Given the description of an element on the screen output the (x, y) to click on. 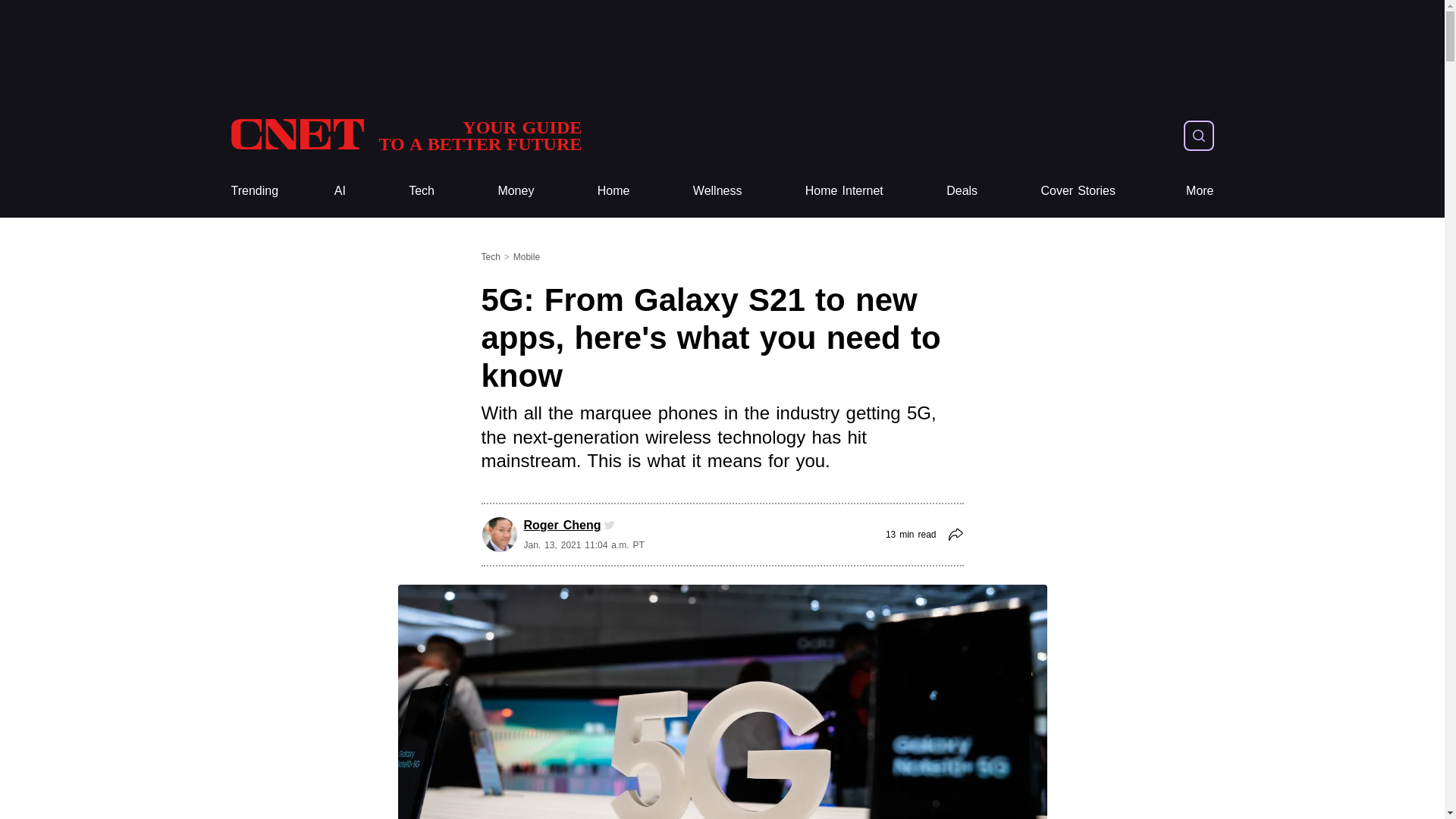
Money (515, 190)
Deals (961, 190)
Home (613, 190)
Home Internet (844, 190)
Tech (421, 190)
Cover Stories (405, 135)
Trending (1078, 190)
Wellness (254, 190)
Home Internet (717, 190)
